Given the description of an element on the screen output the (x, y) to click on. 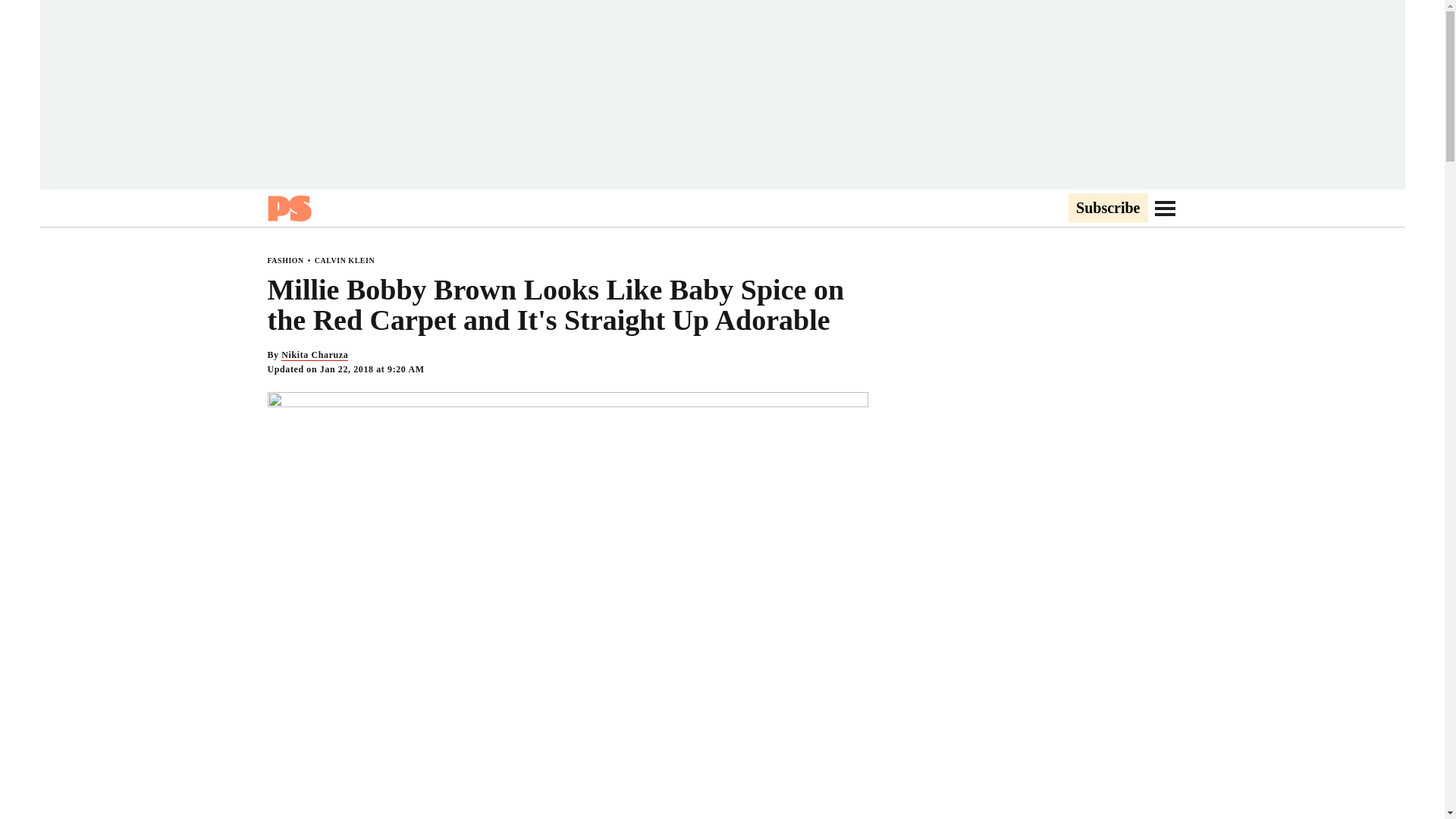
Popsugar (288, 208)
FASHION (284, 260)
Go to Navigation (1164, 207)
CALVIN KLEIN (344, 260)
Go to Navigation (1164, 207)
Nikita Charuza (314, 355)
Subscribe (1107, 208)
